Given the description of an element on the screen output the (x, y) to click on. 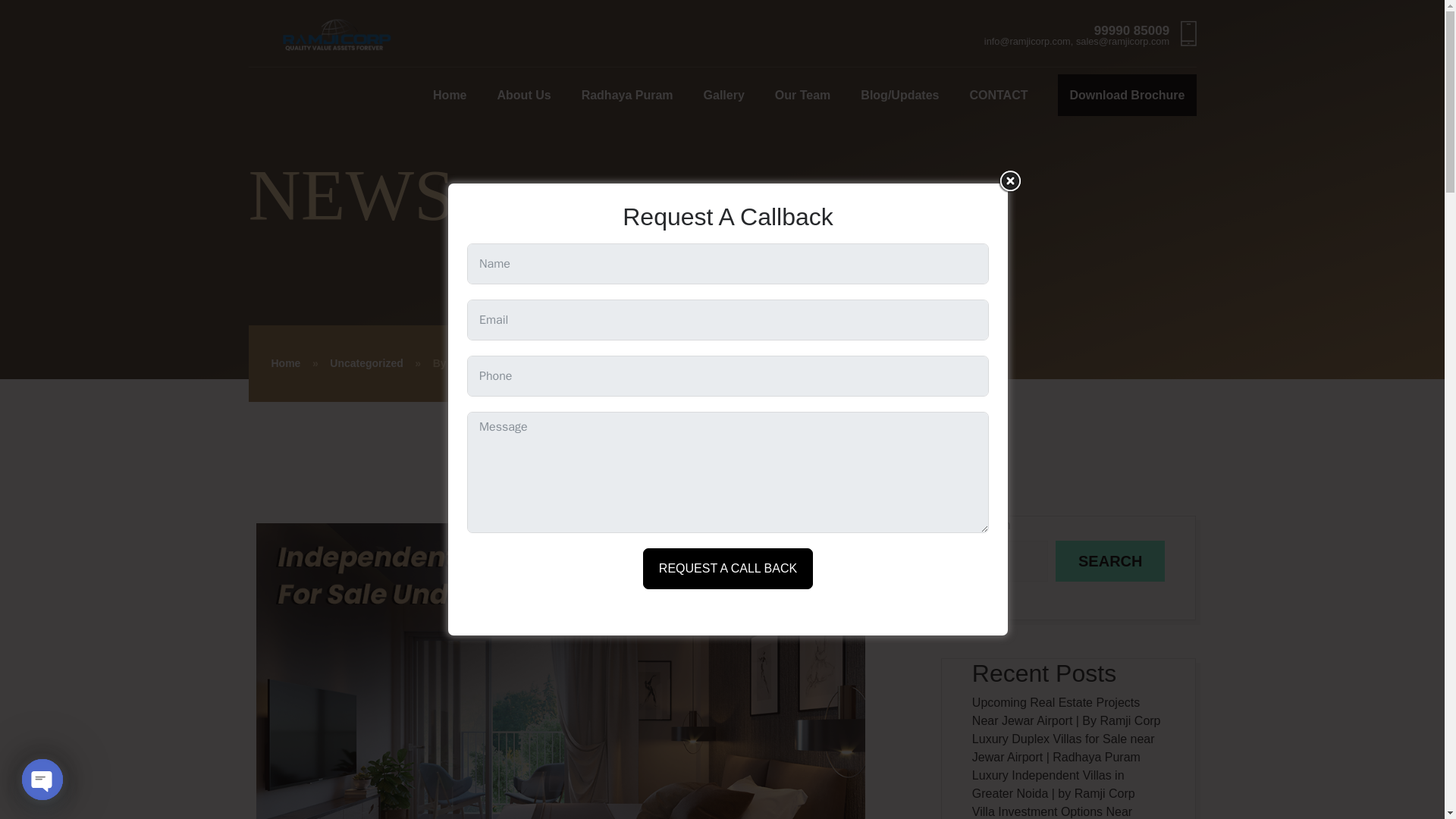
99990 85009 (1131, 30)
Radhaya Puram (626, 94)
Uncategorized (366, 363)
Our Team (802, 94)
Our Team (802, 94)
Gallery (723, 94)
SEARCH (1109, 560)
Gallery (723, 94)
About Us (524, 94)
About Us (524, 94)
CONTACT (998, 94)
Download Brochure (1126, 95)
Home (448, 94)
Home (285, 363)
CONTACT (998, 94)
